Given the description of an element on the screen output the (x, y) to click on. 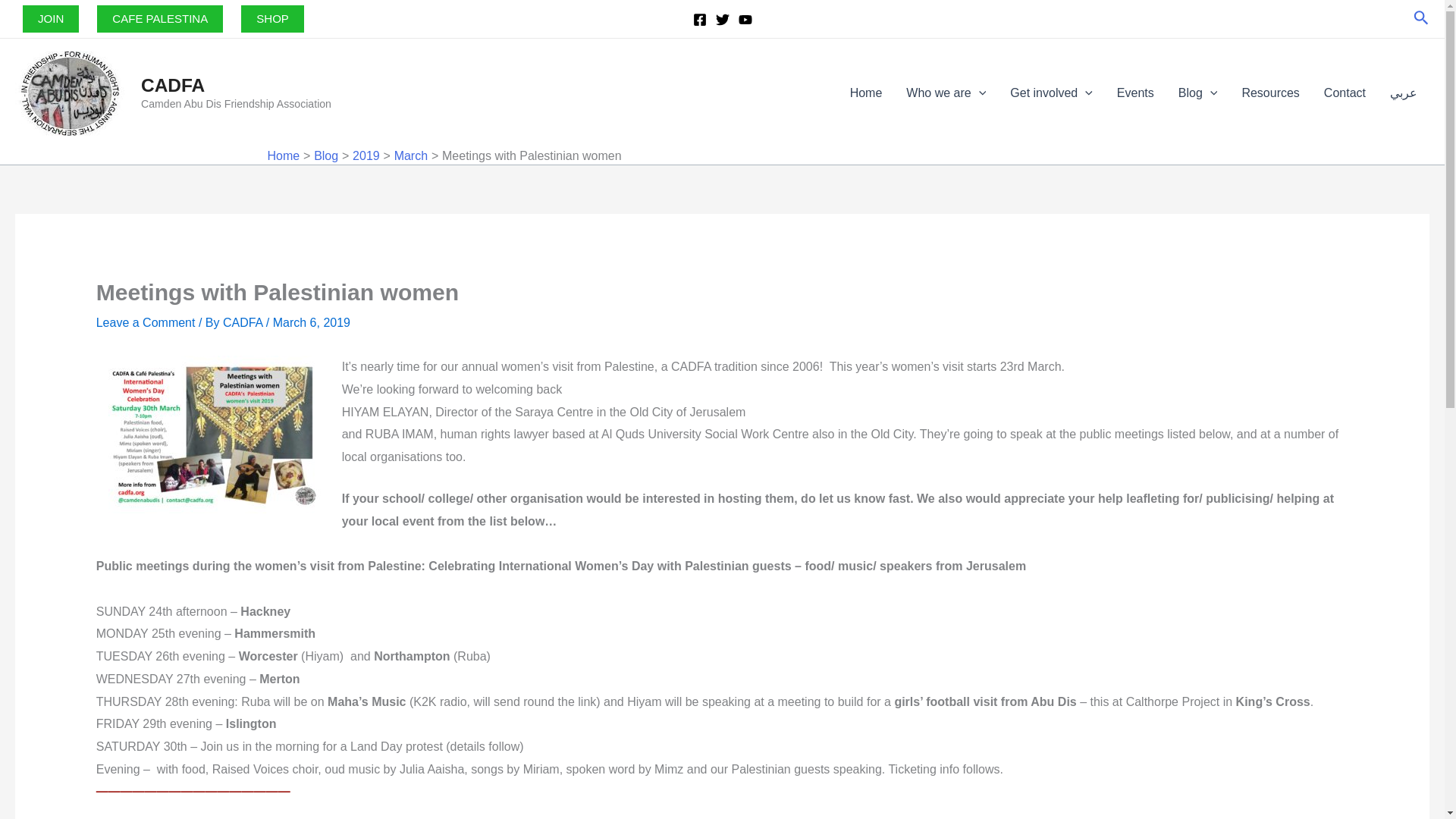
Blog (1198, 92)
Events (1135, 92)
Get involved (1051, 92)
Resources (1269, 92)
Who we are (945, 92)
CAFE PALESTINA (159, 17)
JOIN (50, 17)
SHOP (272, 17)
CADFA (173, 85)
Home (866, 92)
